Given the description of an element on the screen output the (x, y) to click on. 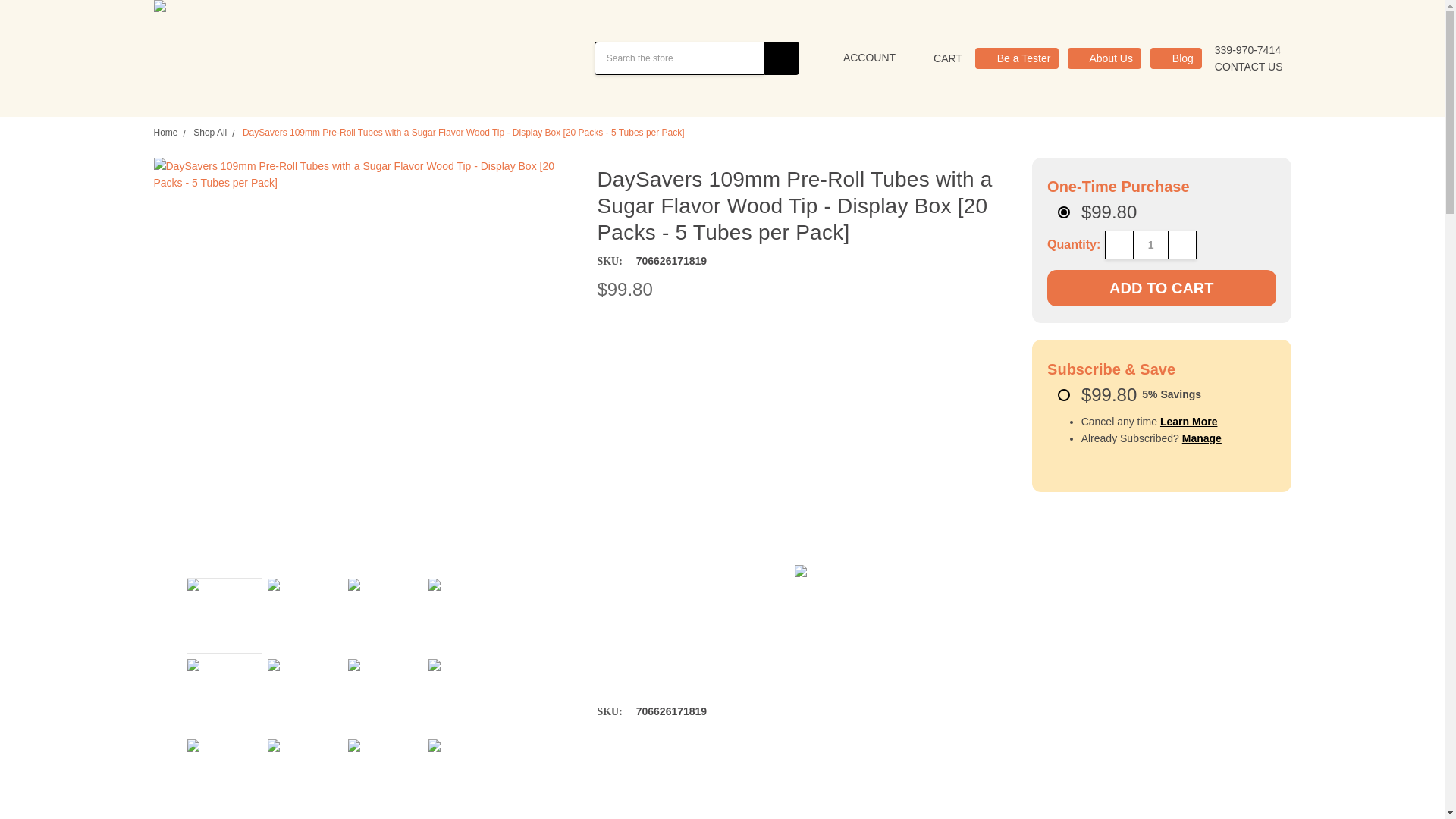
DaySavers (289, 58)
Add to Cart (1160, 288)
1 (1150, 244)
